Given the description of an element on the screen output the (x, y) to click on. 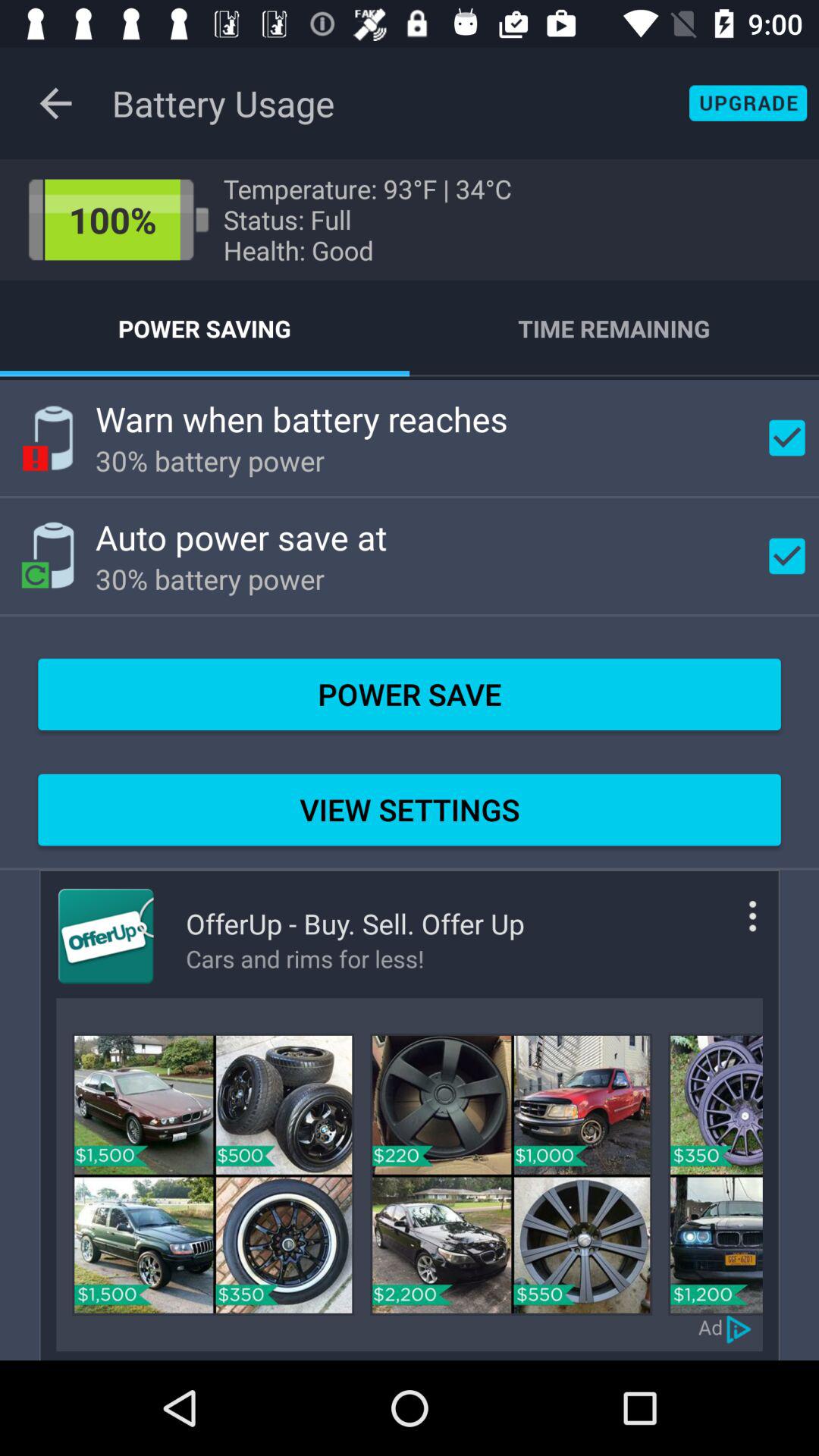
car (511, 1174)
